Given the description of an element on the screen output the (x, y) to click on. 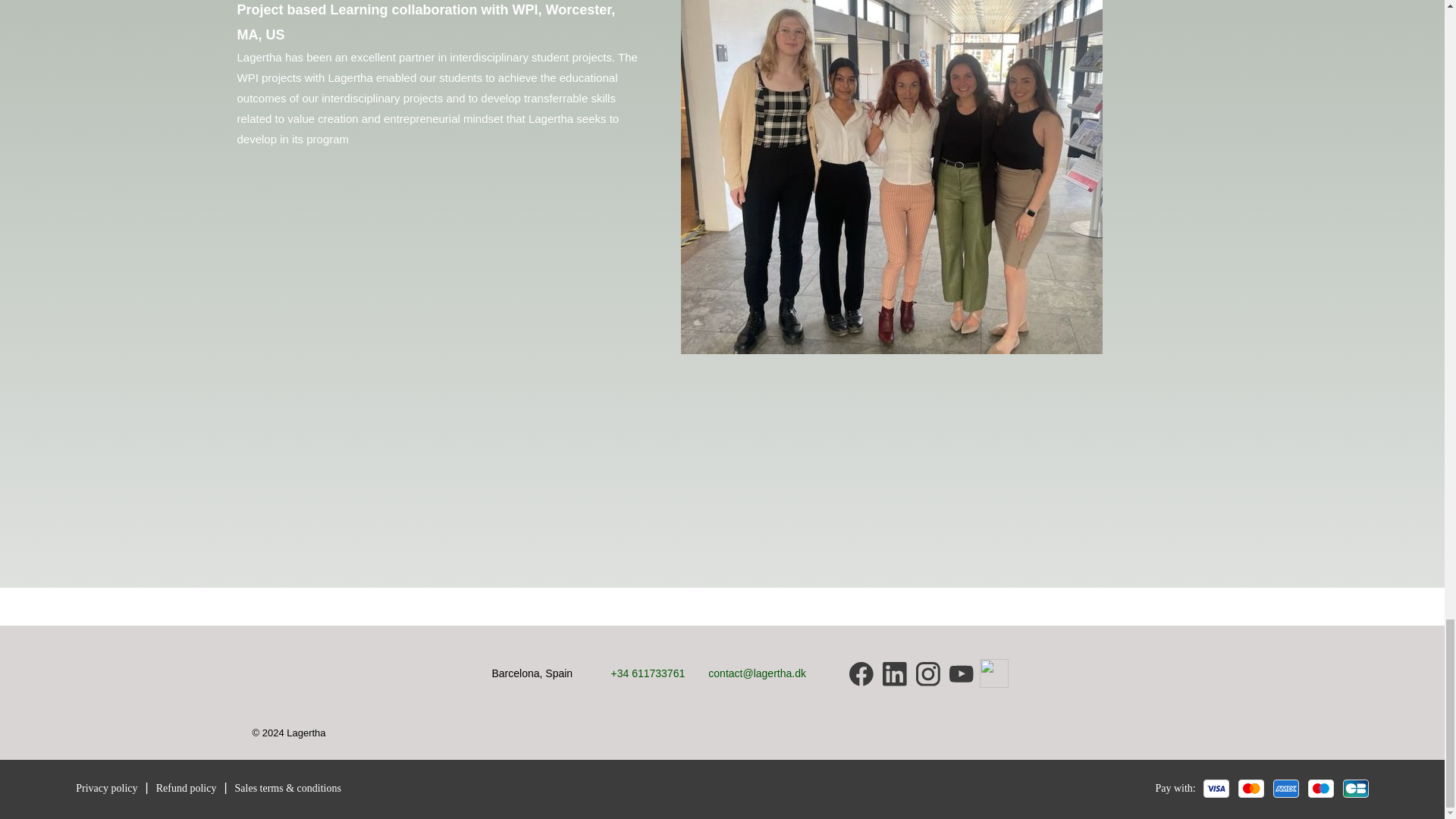
Privacy policy (105, 787)
Refund policy (185, 787)
